Given the description of an element on the screen output the (x, y) to click on. 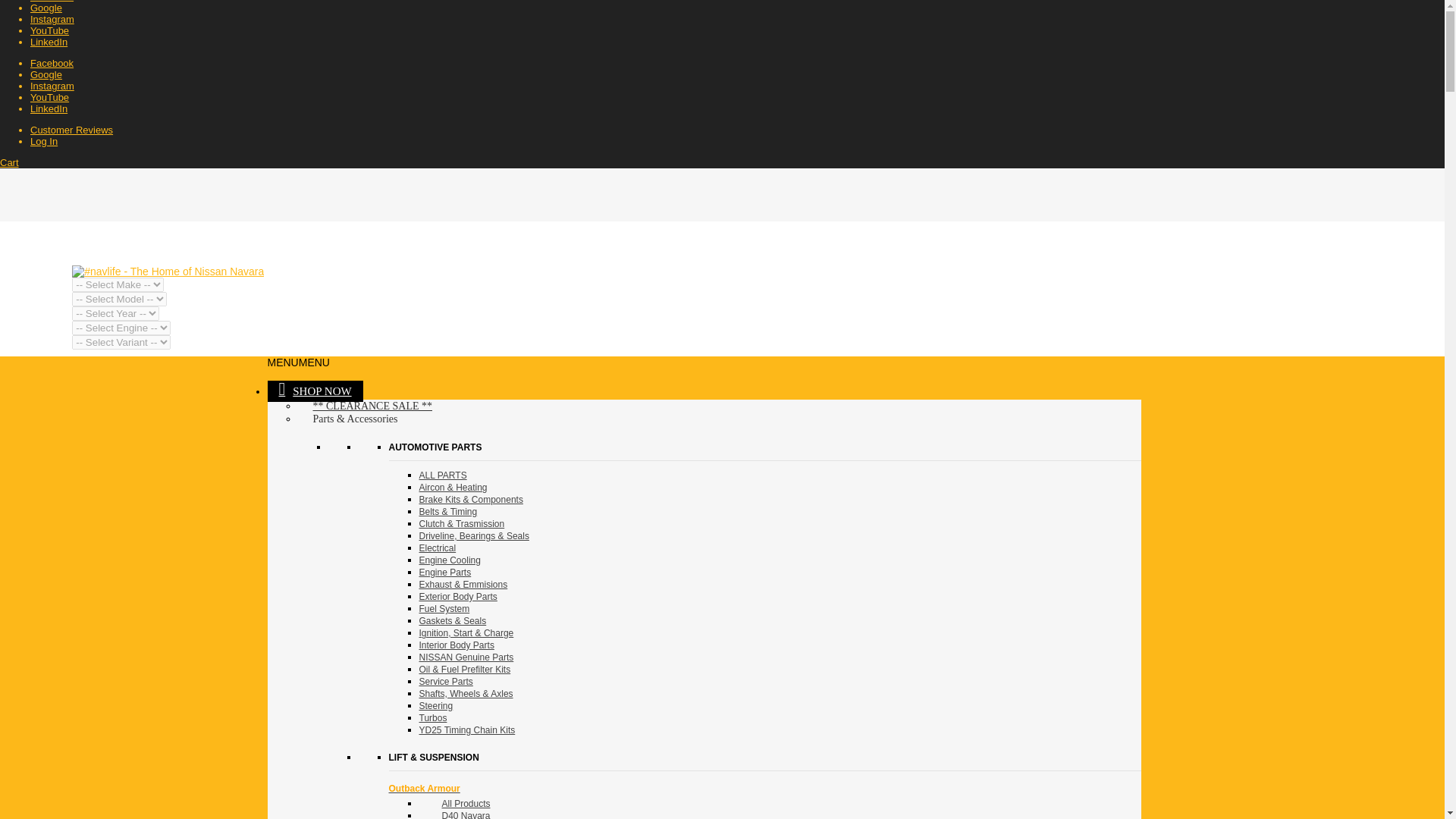
Fuel System (443, 608)
Electrical (437, 547)
SHOP NOW (314, 391)
ALL PARTS (442, 475)
Facebook (52, 62)
Instagram (52, 85)
Engine Cooling (449, 560)
YD25 Timing Chain Kits (467, 729)
Cart (9, 162)
Instagram (52, 19)
